Given the description of an element on the screen output the (x, y) to click on. 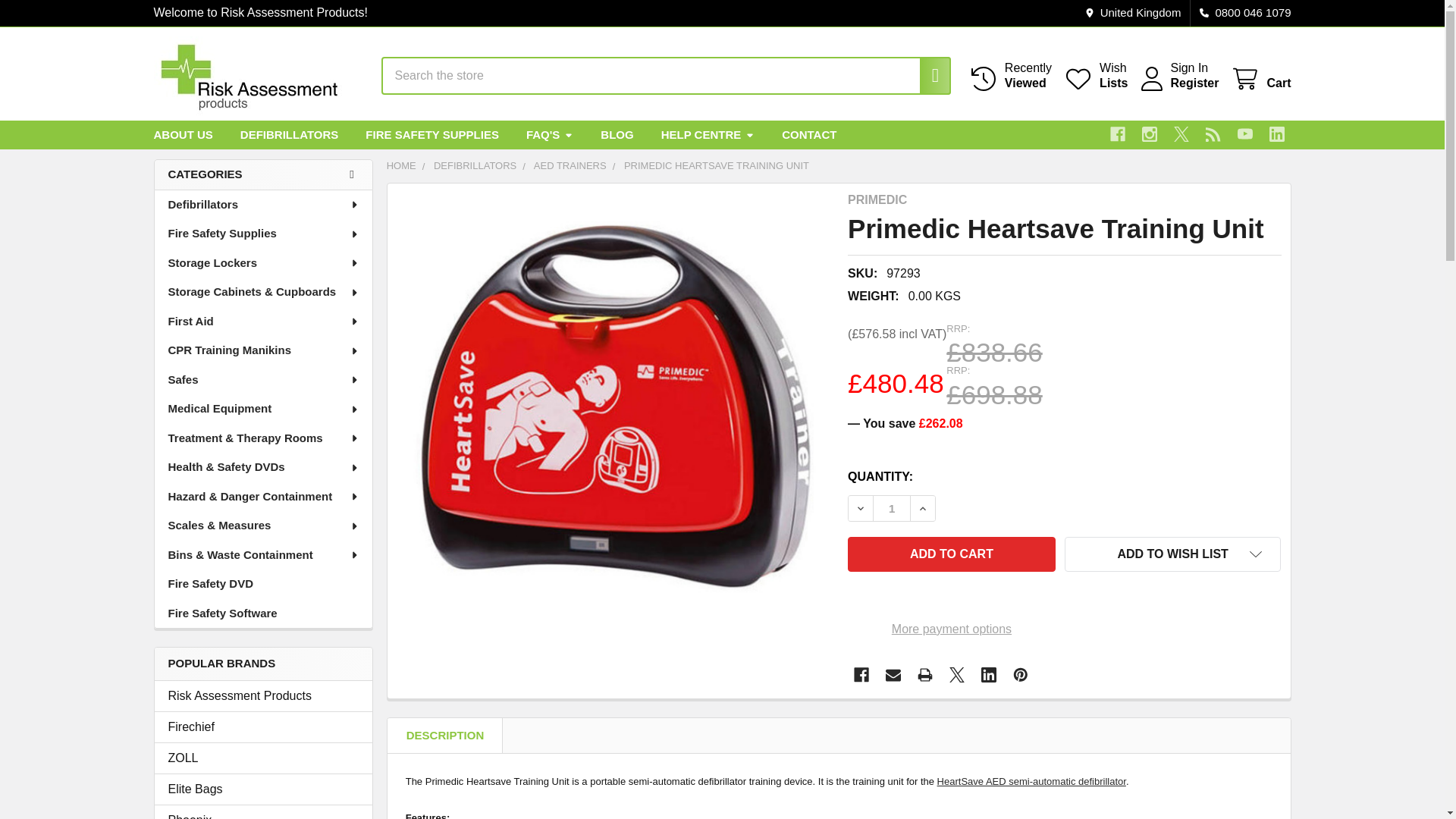
Add to Cart (951, 554)
Wish Lists (1095, 75)
Search (927, 75)
Firechief (263, 727)
Youtube (1245, 134)
X (1095, 75)
Instagram (1181, 134)
1 (1149, 134)
Elite Bags (891, 508)
Search (263, 789)
Linkedin (927, 75)
Cart (1276, 134)
ZOLL (1260, 78)
